Given the description of an element on the screen output the (x, y) to click on. 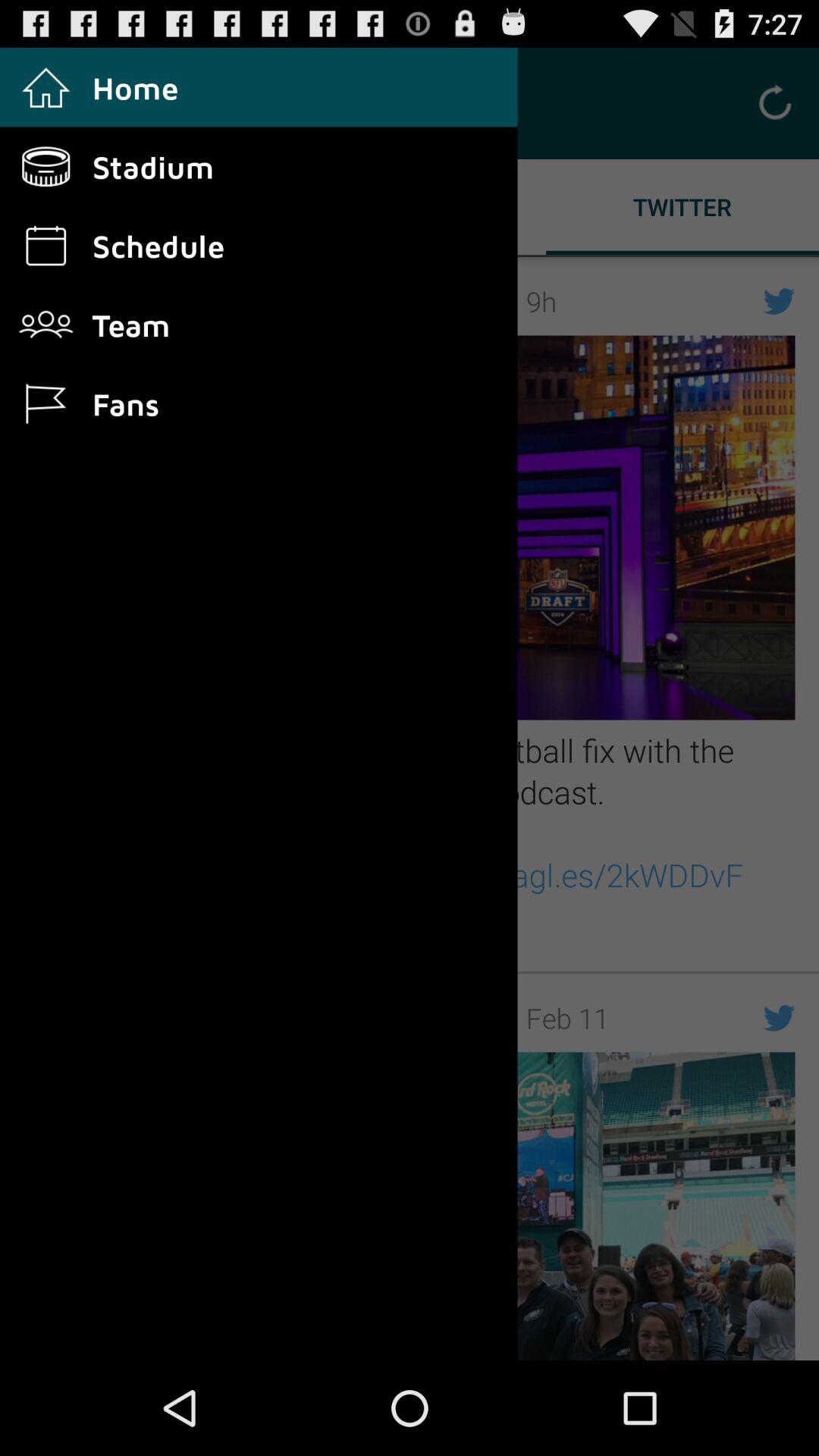
select the icon beside team (59, 324)
click on twitter icon right to 9h (779, 301)
